Given the description of an element on the screen output the (x, y) to click on. 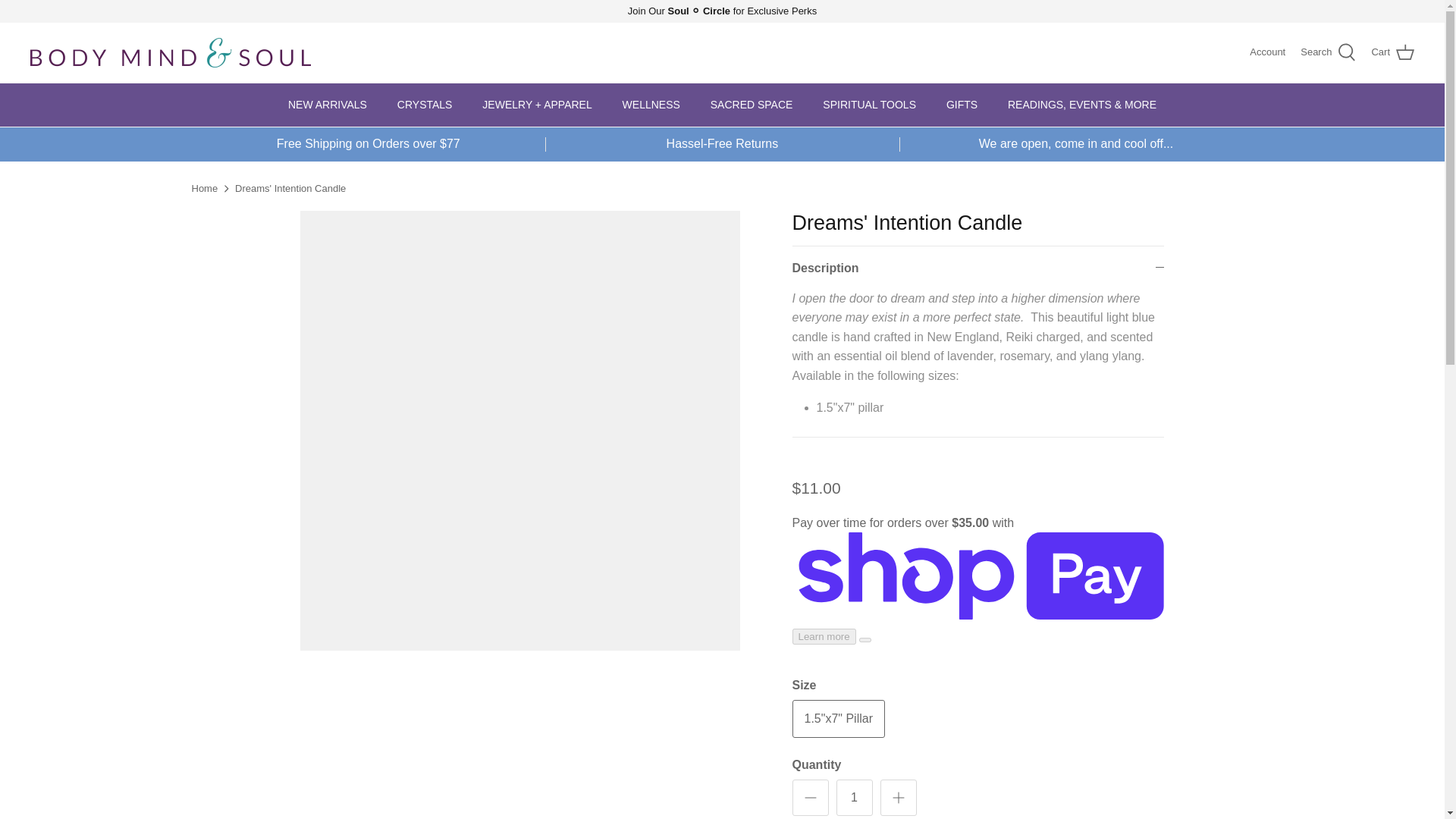
NEW ARRIVALS (327, 104)
Search (1327, 53)
Minus (809, 797)
Plus (897, 797)
CRYSTALS (424, 104)
Account (1267, 52)
Cart (1392, 53)
1 (853, 797)
